Given the description of an element on the screen output the (x, y) to click on. 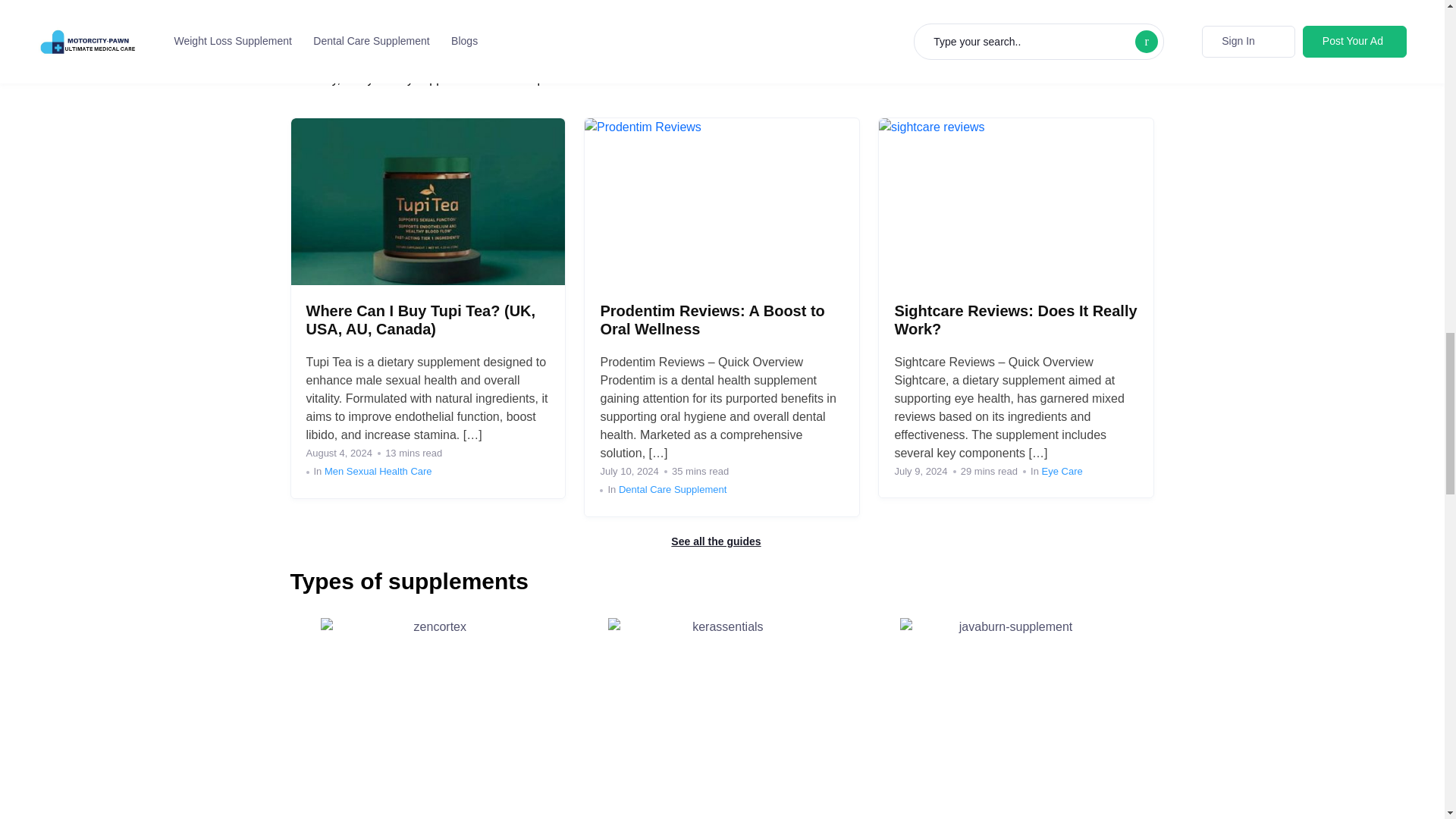
Dental Care Supplement (672, 489)
Men Sexual Health Care (378, 471)
Sightcare Reviews: Does It Really Work? (1015, 319)
Prodentim Reviews: A Boost to Oral Wellness (711, 319)
